Given the description of an element on the screen output the (x, y) to click on. 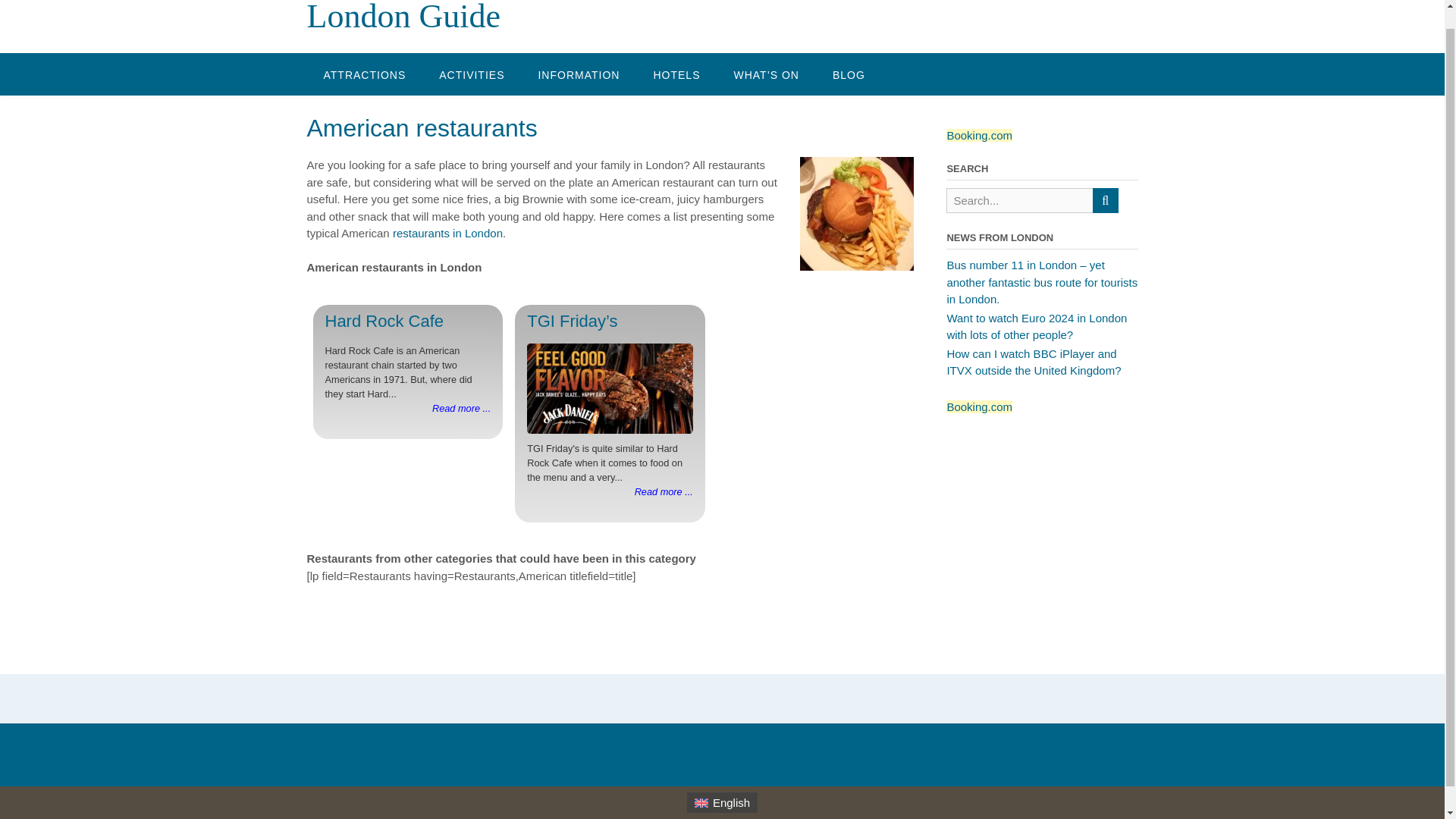
INFORMATION (578, 73)
Read more ... (461, 408)
American Restaurants (856, 214)
Search for: (1019, 200)
ACTIVITIES (471, 73)
London Guide (402, 17)
London Guide (402, 17)
ATTRACTIONS (363, 73)
Read more ... (663, 491)
